Given the description of an element on the screen output the (x, y) to click on. 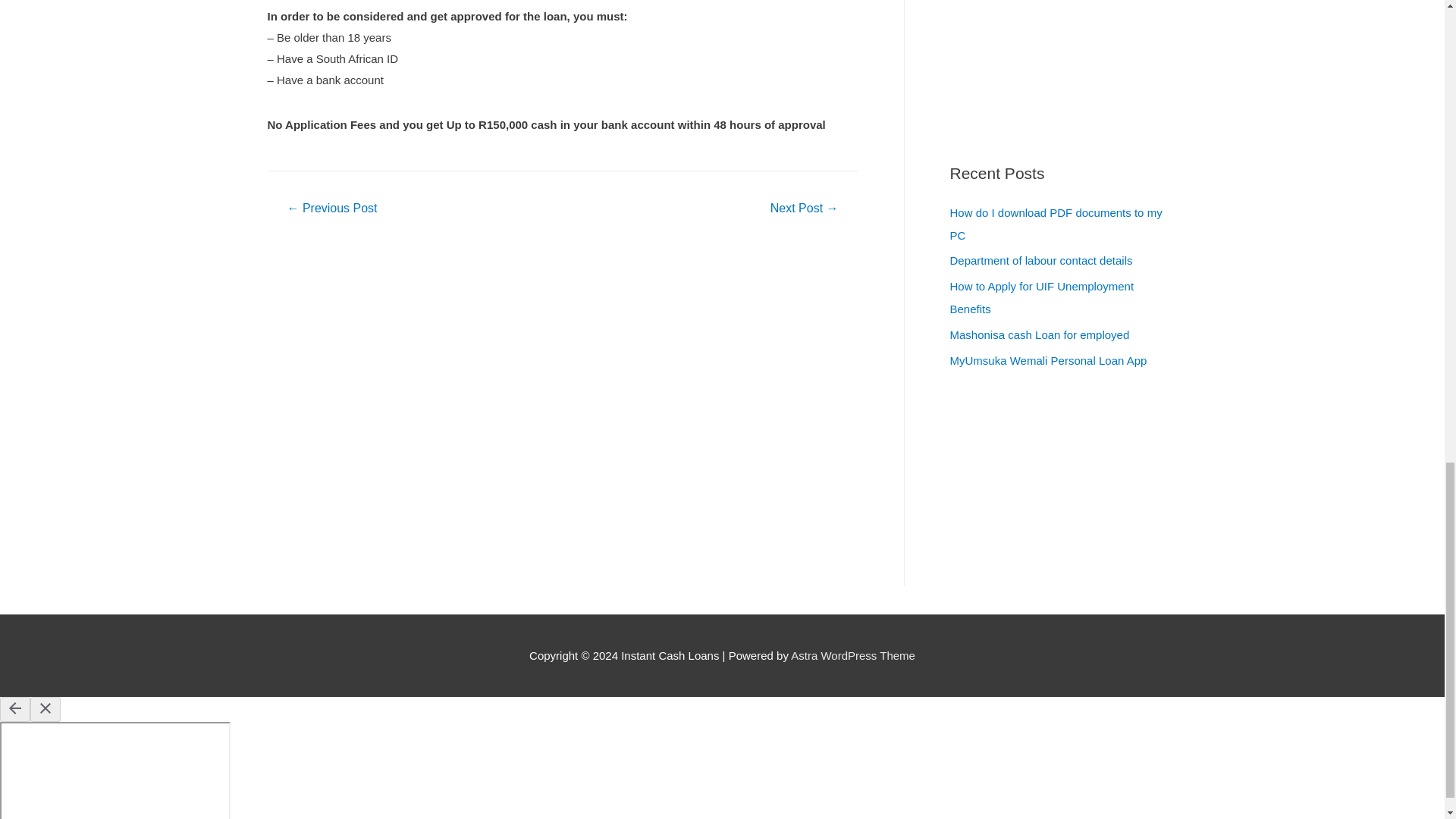
Mashonisa cash Loan for employed (1039, 334)
Astra WordPress Theme (852, 655)
Department of labour contact details (1040, 259)
MyUmsuka Wemali Personal Loan App (1048, 359)
How do I download PDF documents to my PC (1055, 222)
How to Apply for UIF Unemployment Benefits (1041, 297)
